Given the description of an element on the screen output the (x, y) to click on. 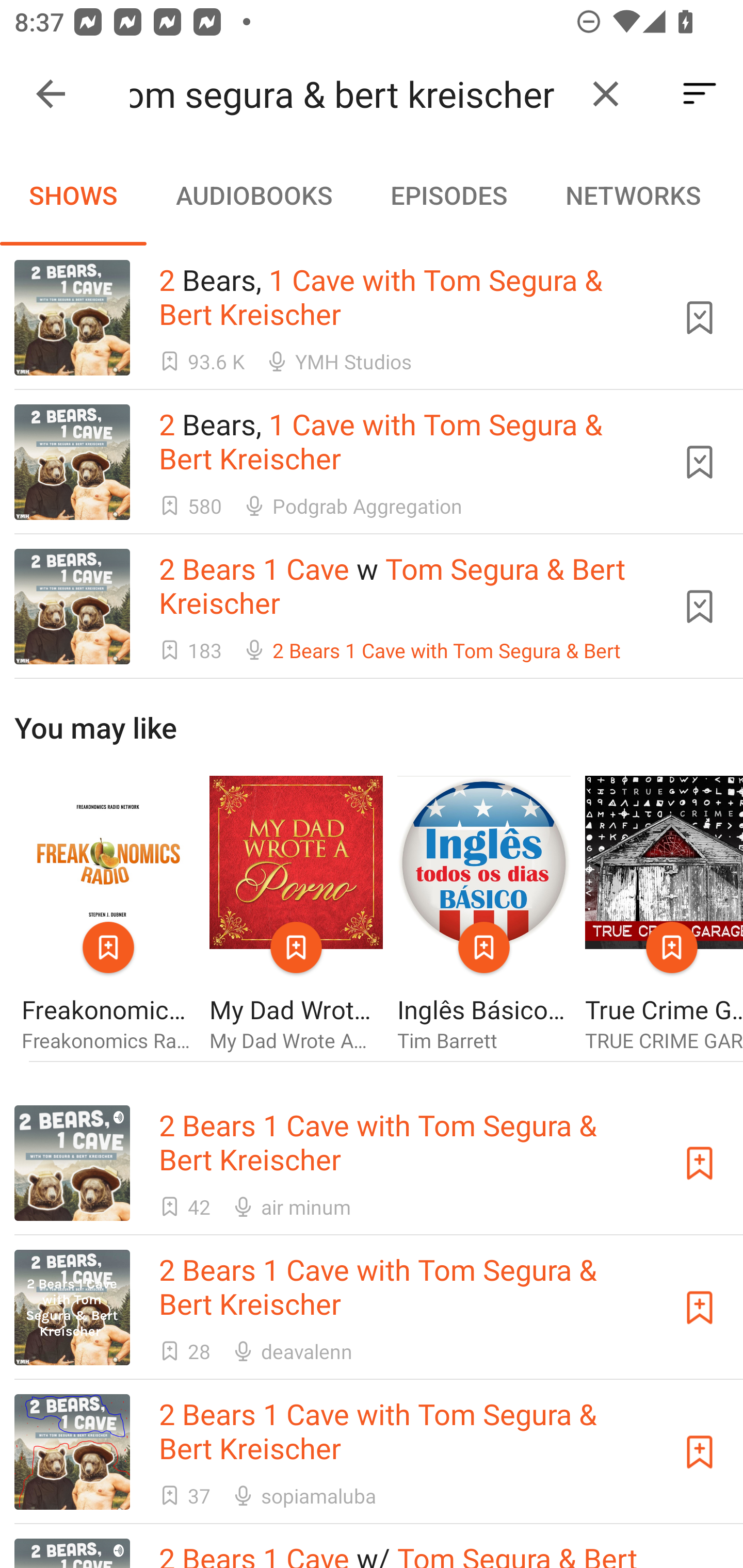
Collapse (50, 93)
Clear query (605, 93)
Sort By (699, 93)
2 bears 1 cave with tom segura & bert kreischer (349, 94)
SHOWS (73, 195)
AUDIOBOOKS (253, 195)
EPISODES (448, 195)
NETWORKS (632, 195)
Unsubscribe (699, 317)
Unsubscribe (699, 462)
Unsubscribe (699, 606)
Freakonomics Radio Freakonomics Radio + Stitcher (107, 914)
My Dad Wrote A Porno (295, 914)
Inglês Básico Todos os Dias Tim Barrett (483, 914)
True Crime Garage TRUE CRIME GARAGE (664, 914)
Subscribe (699, 1163)
Subscribe (699, 1307)
Subscribe (699, 1451)
